Given the description of an element on the screen output the (x, y) to click on. 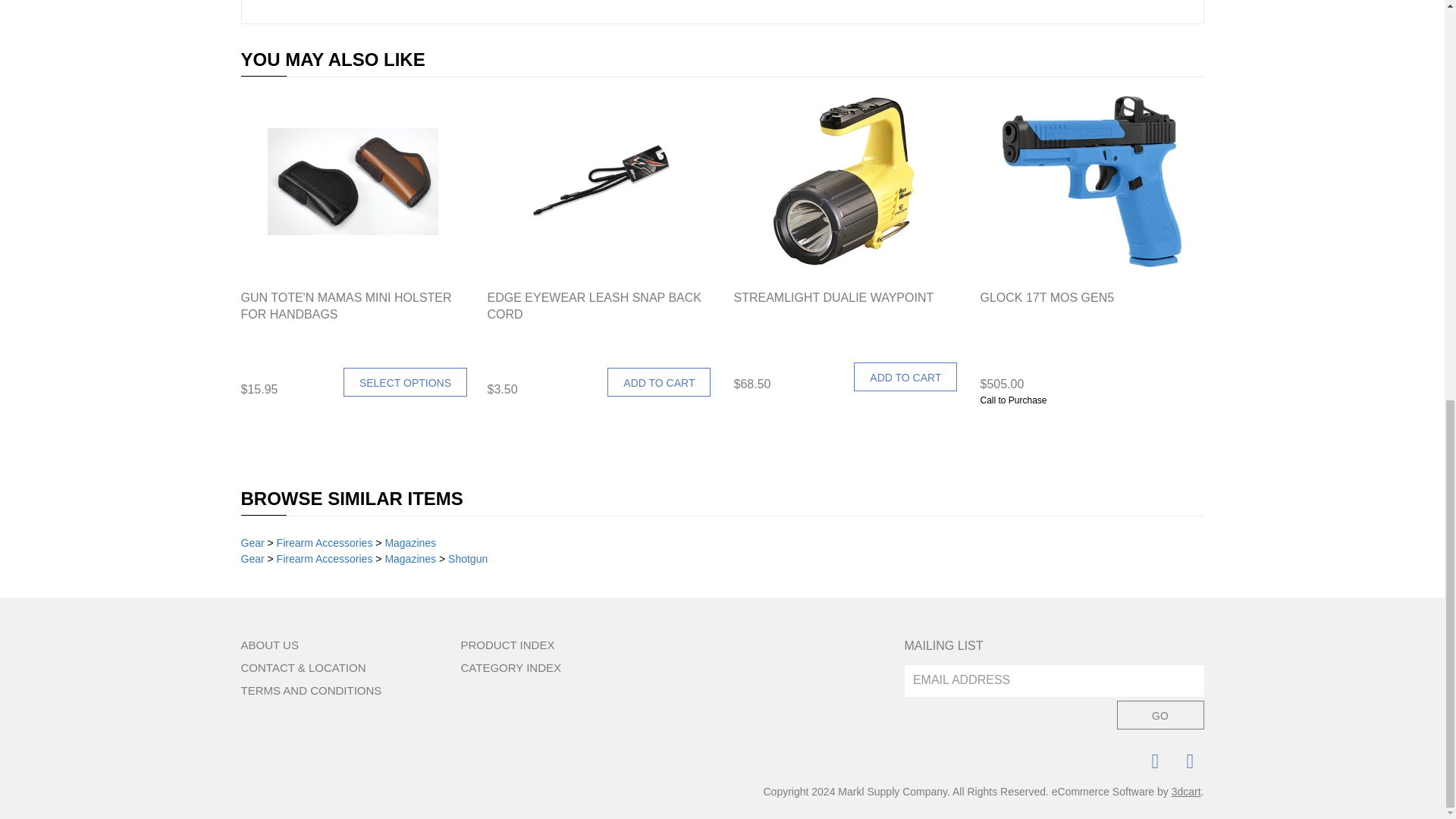
Like Us on Facebook (1153, 760)
Follow Us on Twitter (1186, 760)
